Given the description of an element on the screen output the (x, y) to click on. 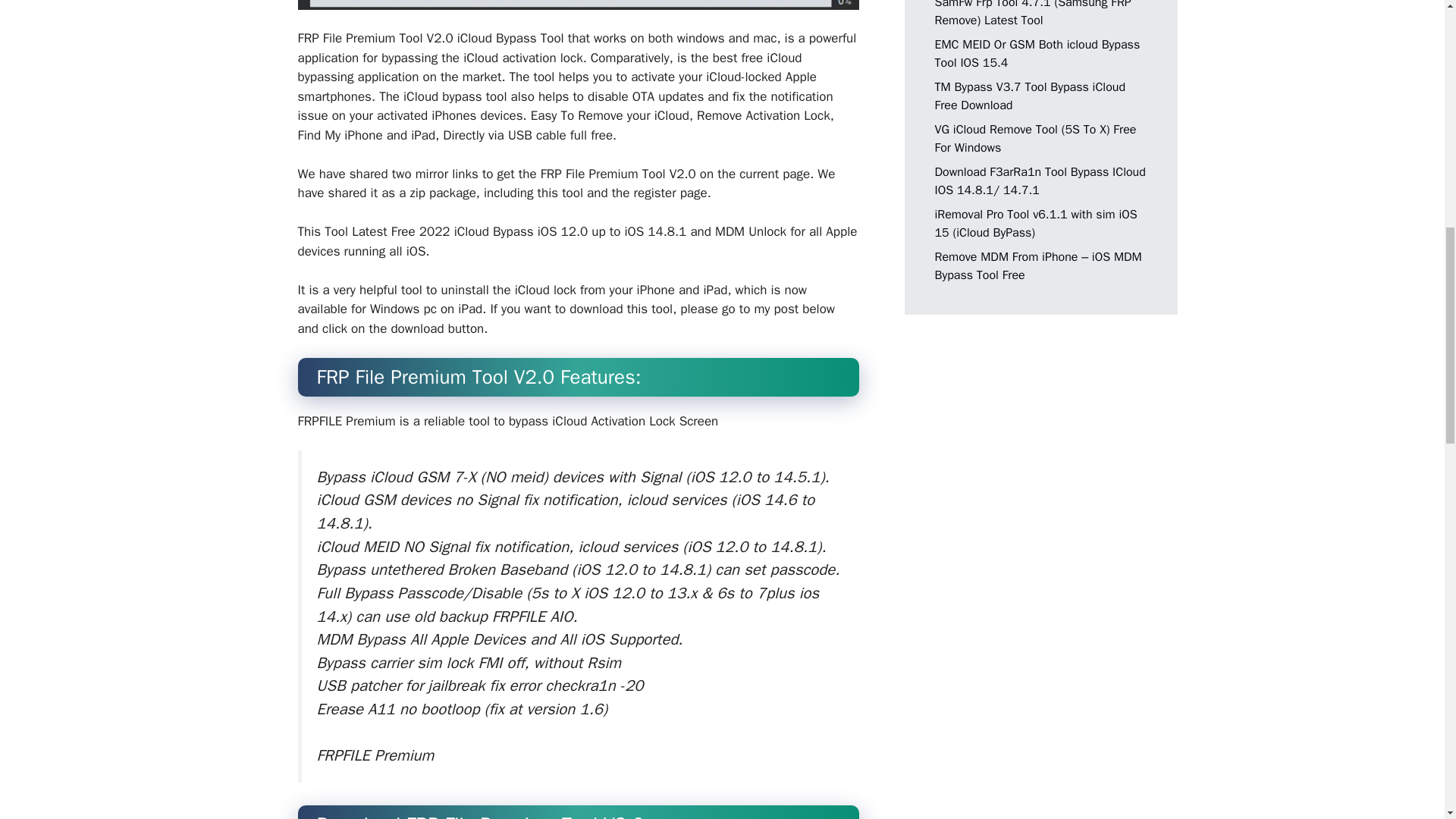
TM Bypass V3.7 Tool Bypass iCloud Free Download (1029, 95)
EMC MEID Or GSM Both icloud Bypass Tool IOS 15.4 (1037, 52)
